Given the description of an element on the screen output the (x, y) to click on. 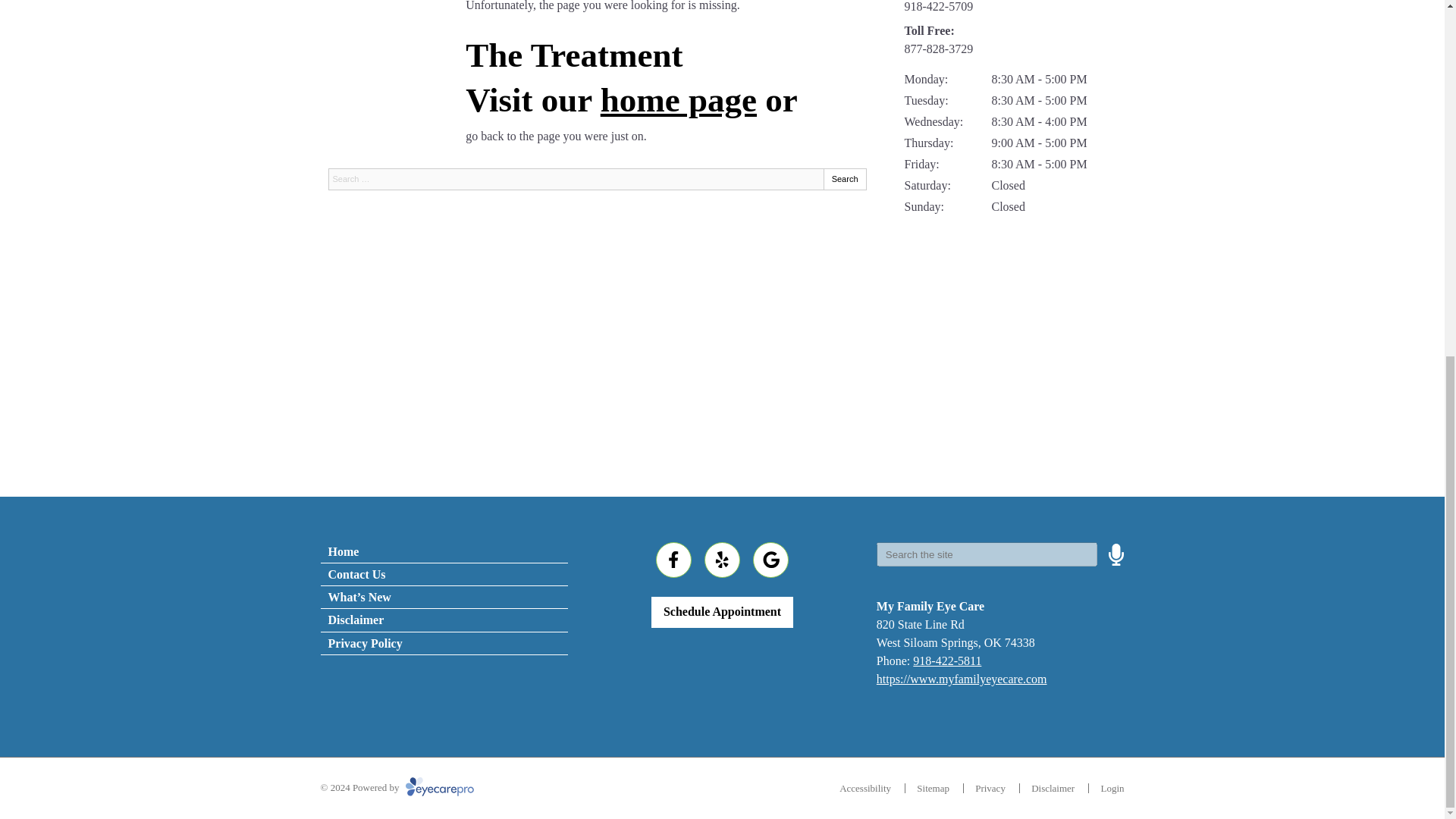
Google map (1014, 341)
Speak Field (986, 554)
